Given the description of an element on the screen output the (x, y) to click on. 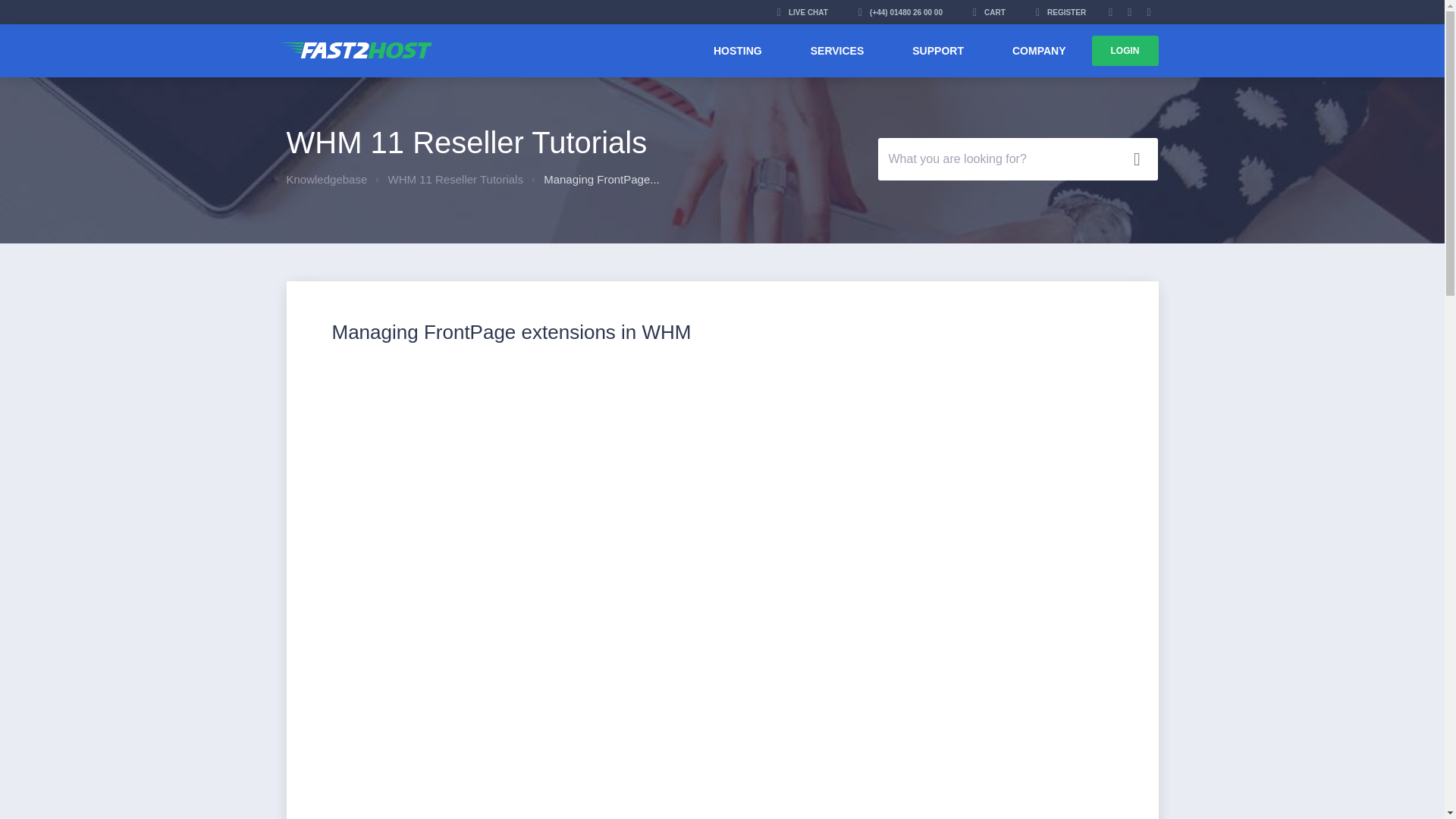
LIVE CHAT (802, 12)
HOSTING (737, 50)
LOGIN (1125, 51)
REGISTER (1060, 12)
CART (989, 12)
SUPPORT (938, 50)
COMPANY (1039, 50)
SERVICES (836, 50)
Knowledgebase (327, 178)
